Given the description of an element on the screen output the (x, y) to click on. 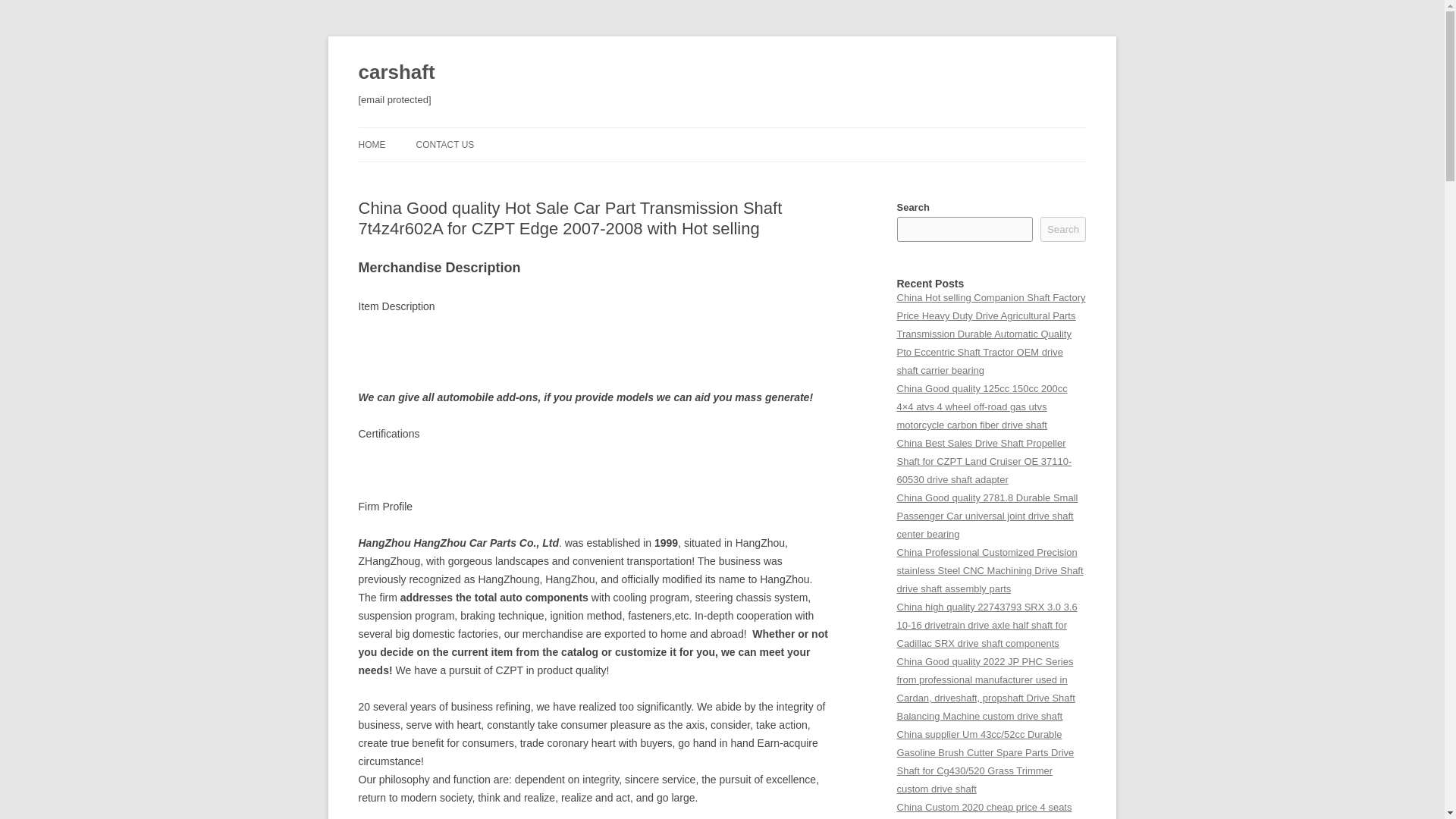
CONTACT US (444, 144)
carshaft (395, 72)
Search (1063, 229)
carshaft (395, 72)
